Given the description of an element on the screen output the (x, y) to click on. 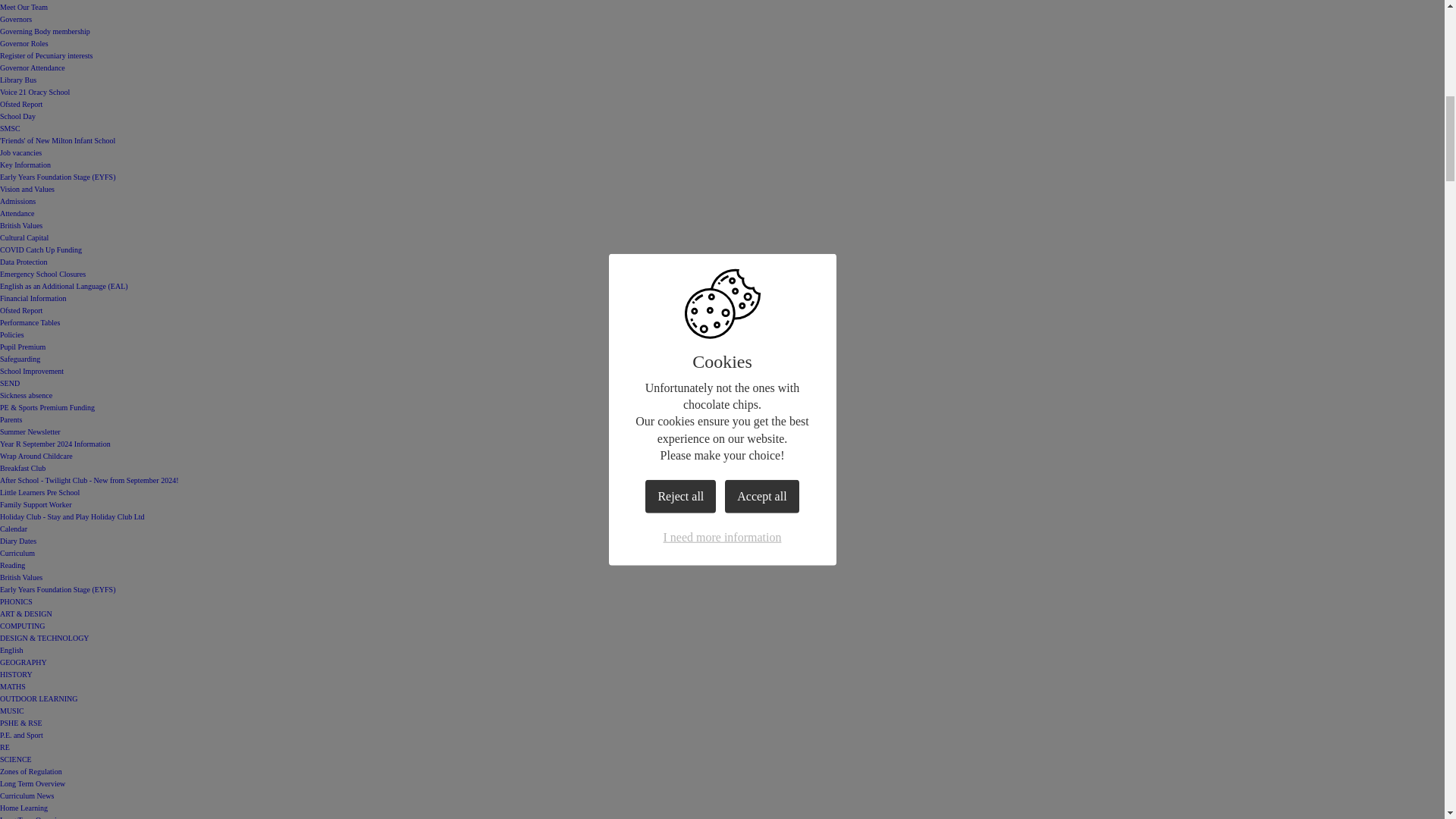
Governing Body membership (45, 31)
Governor Attendance (32, 67)
Performance Tables (29, 322)
Ofsted Report (21, 310)
Meet Our Team (24, 7)
School Day (17, 116)
SMSC (10, 128)
Policies (12, 334)
Admissions (17, 201)
Attendance (17, 213)
Emergency School Closures (42, 274)
School Improvement (32, 370)
Cultural Capital (24, 237)
Voice 21 Oracy School (34, 91)
Ofsted Report (21, 103)
